Given the description of an element on the screen output the (x, y) to click on. 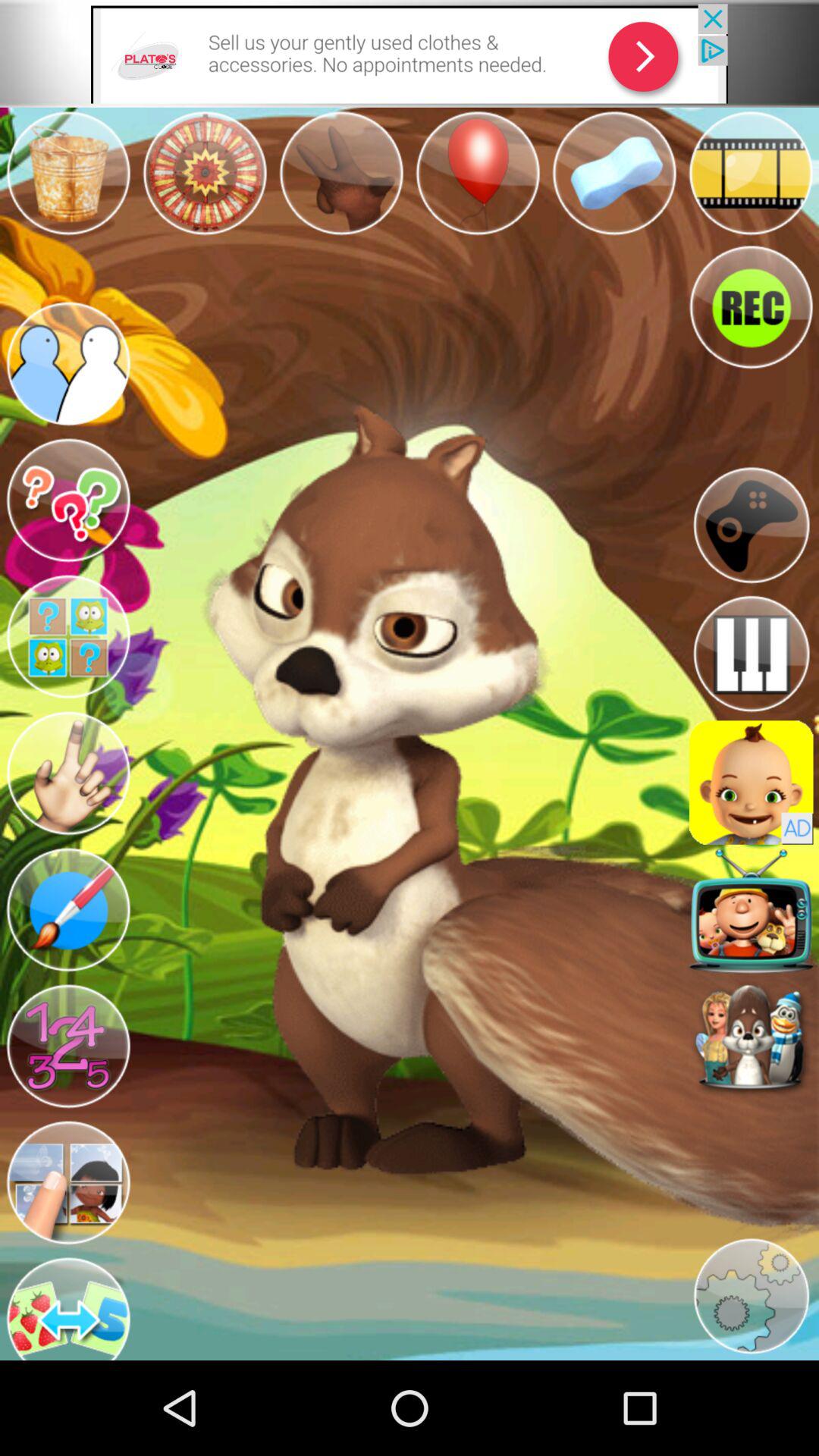
select numbers (68, 1046)
